Given the description of an element on the screen output the (x, y) to click on. 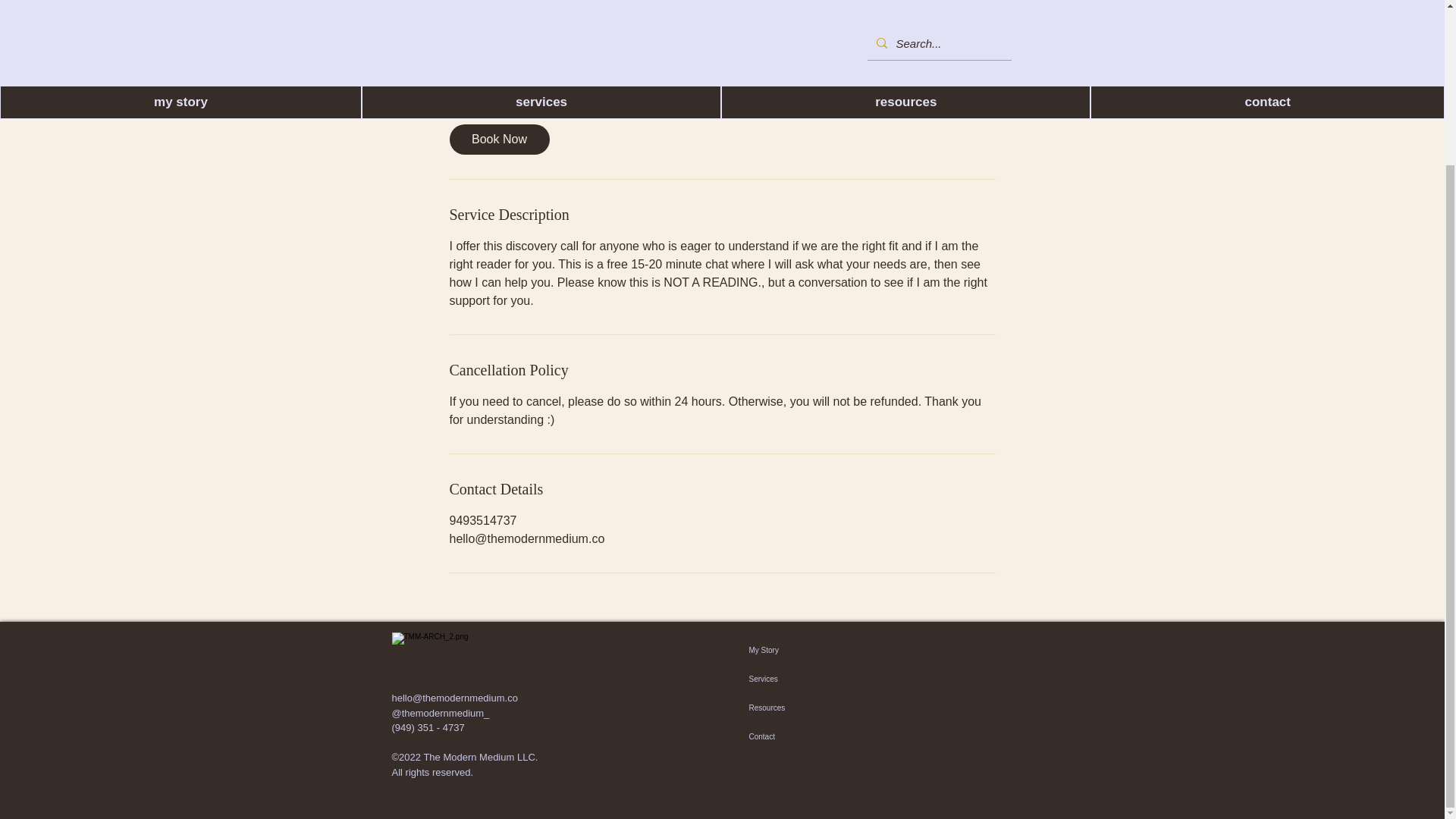
Book Now (498, 139)
My Story (830, 650)
Contact (830, 736)
